Given the description of an element on the screen output the (x, y) to click on. 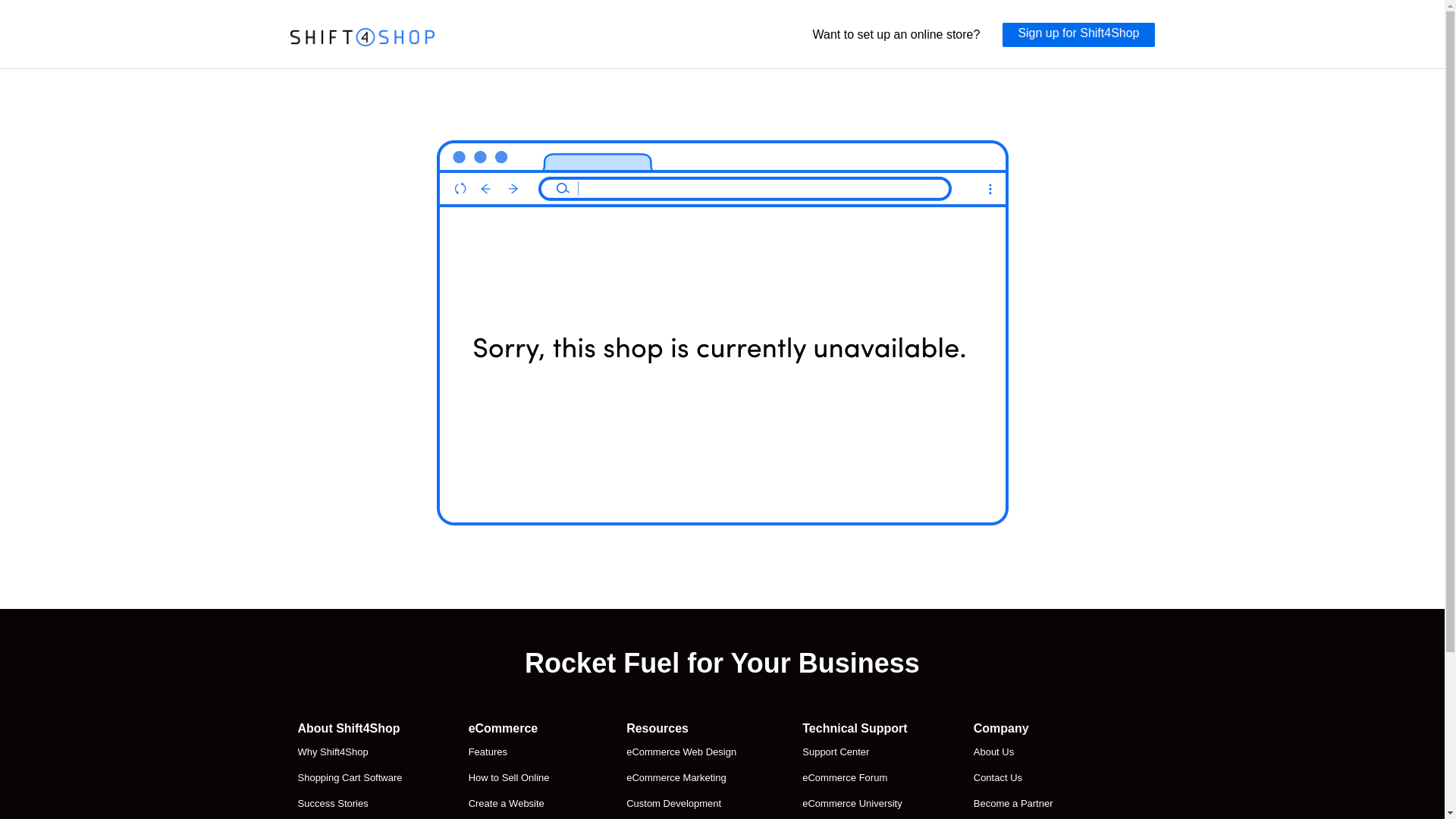
Create a Website (514, 803)
Shopping Cart Software (349, 777)
Features (514, 752)
About Us (1027, 752)
eCommerce Marketing (681, 777)
eCommerce Web Design (681, 752)
Become a Partner (1027, 803)
Custom Development (681, 803)
eCommerce Forum (854, 777)
Support Center (854, 752)
